Given the description of an element on the screen output the (x, y) to click on. 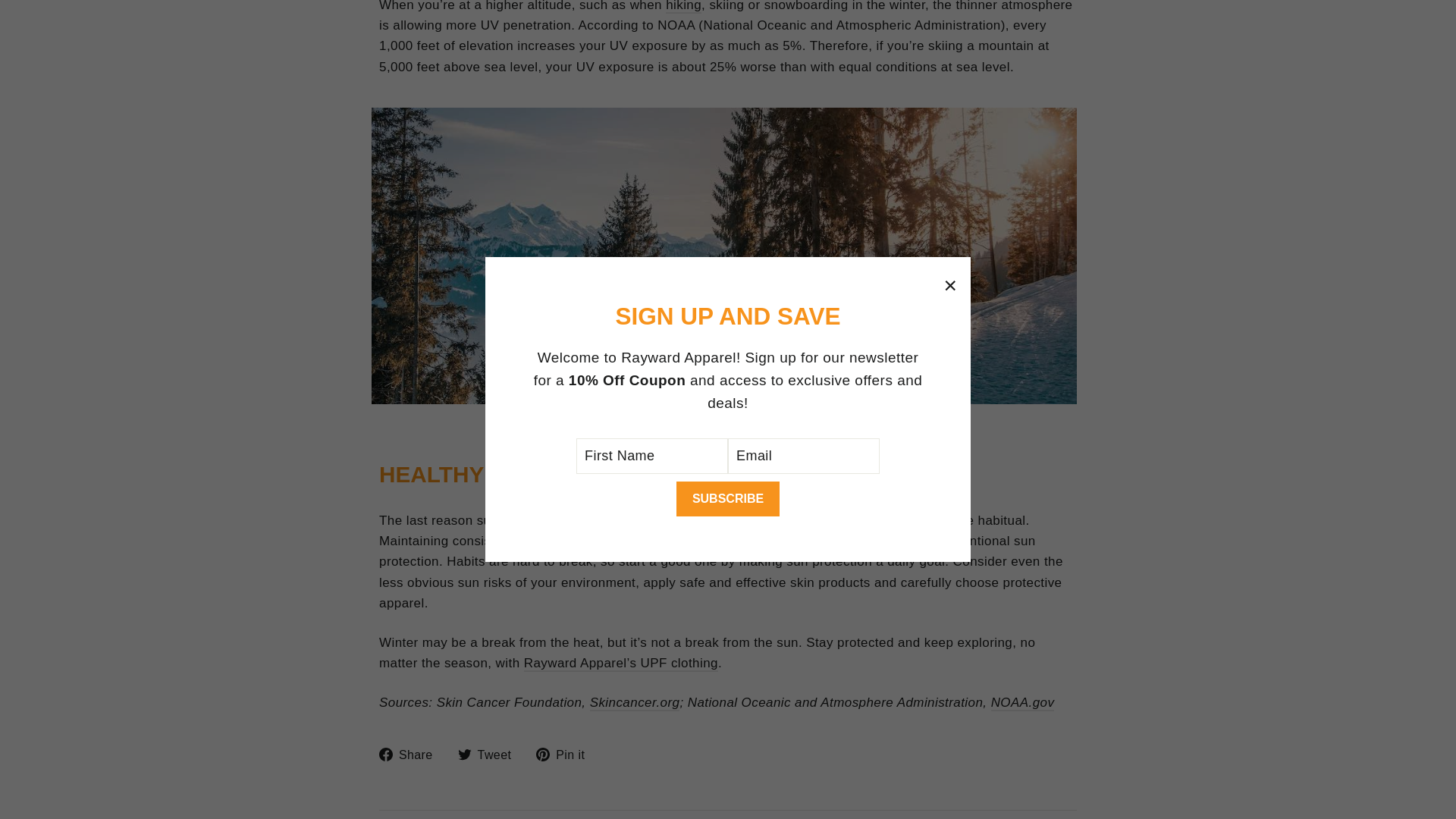
twitter (464, 754)
Tweet on Twitter (490, 754)
